Given the description of an element on the screen output the (x, y) to click on. 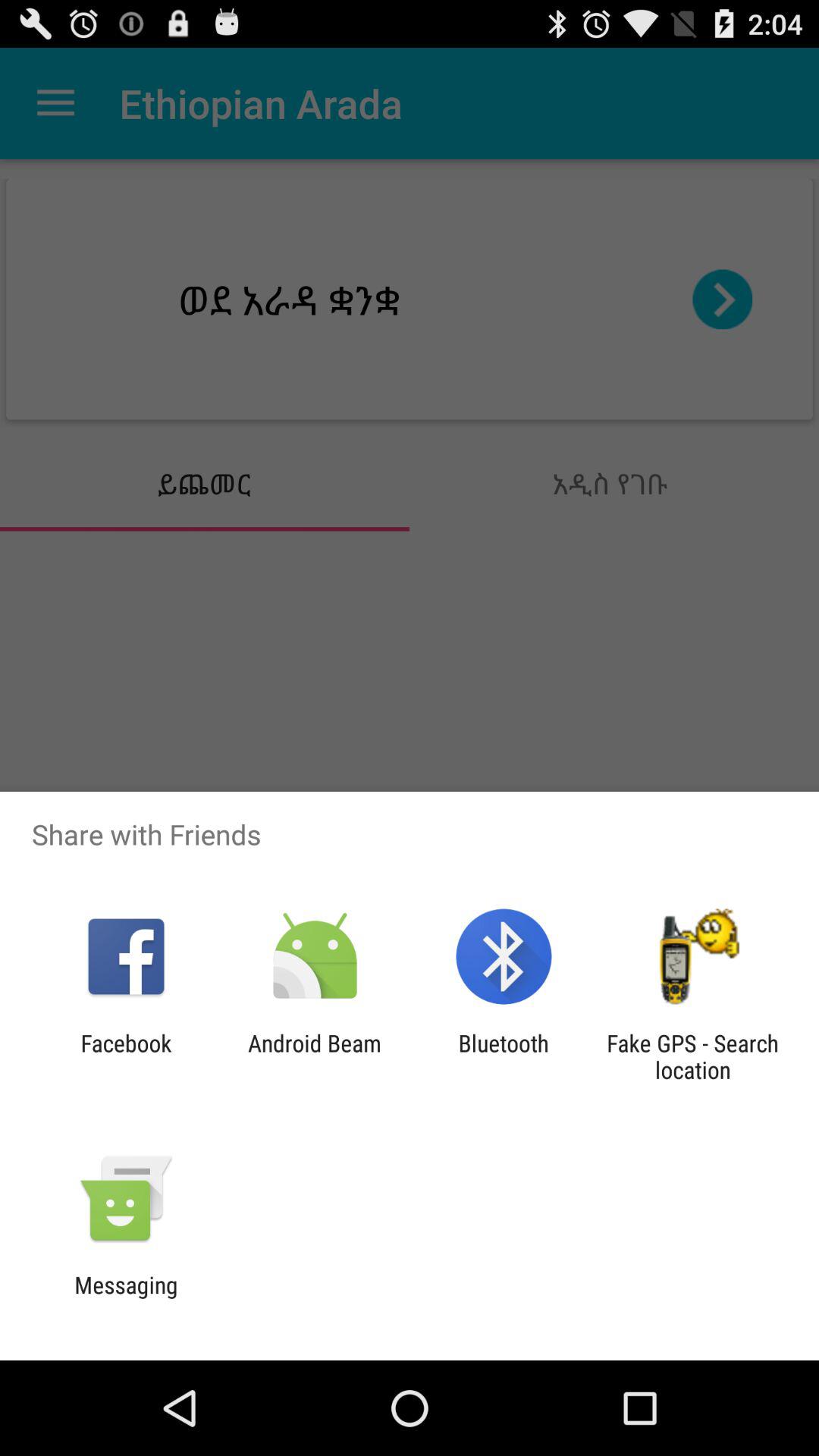
press the icon next to the android beam app (125, 1056)
